Given the description of an element on the screen output the (x, y) to click on. 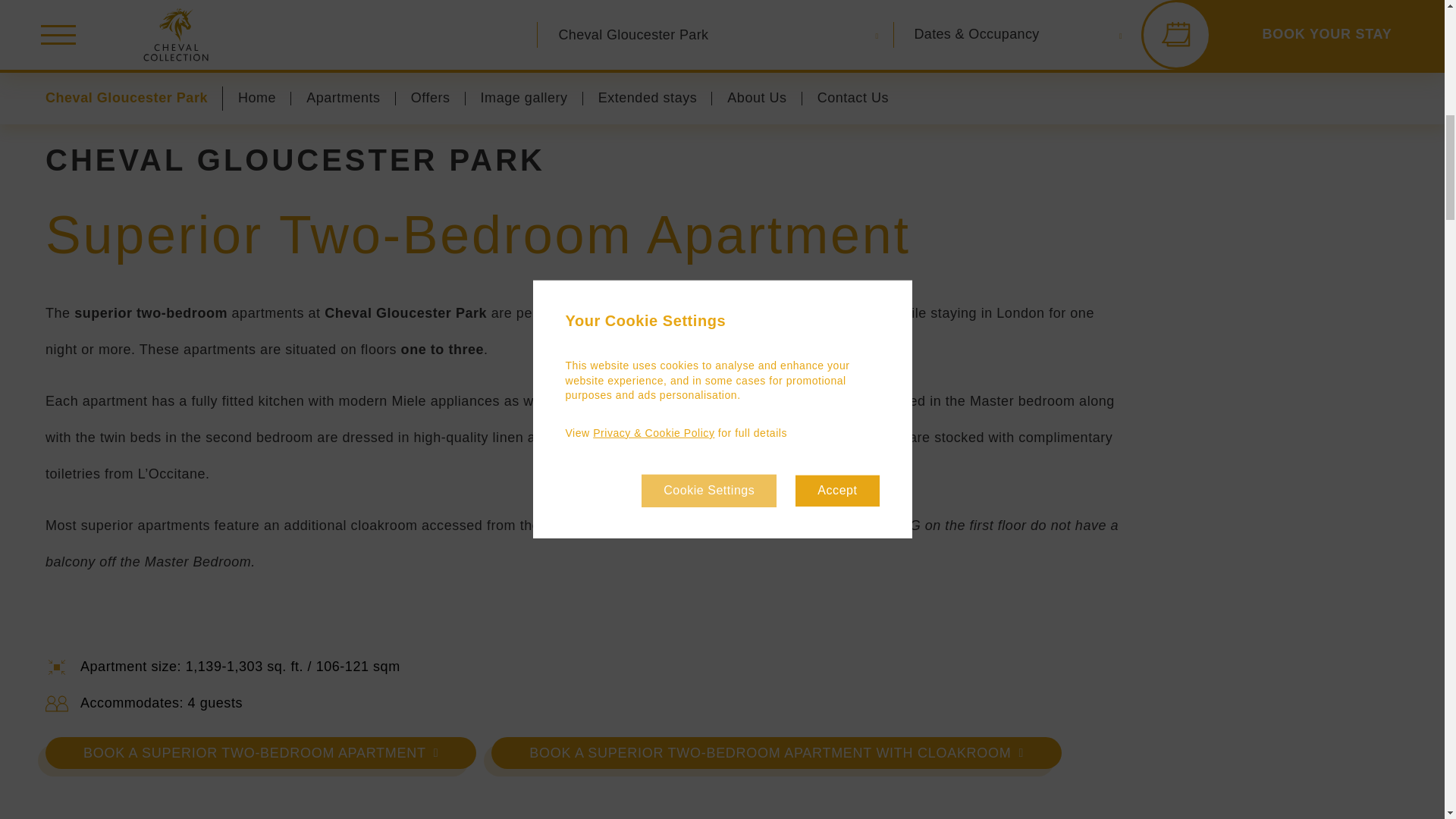
BOOK A SUPERIOR TWO-BEDROOM APARTMENT WITH CLOAKROOM (776, 753)
BOOK A SUPERIOR TWO-BEDROOM APARTMENT (260, 753)
